Given the description of an element on the screen output the (x, y) to click on. 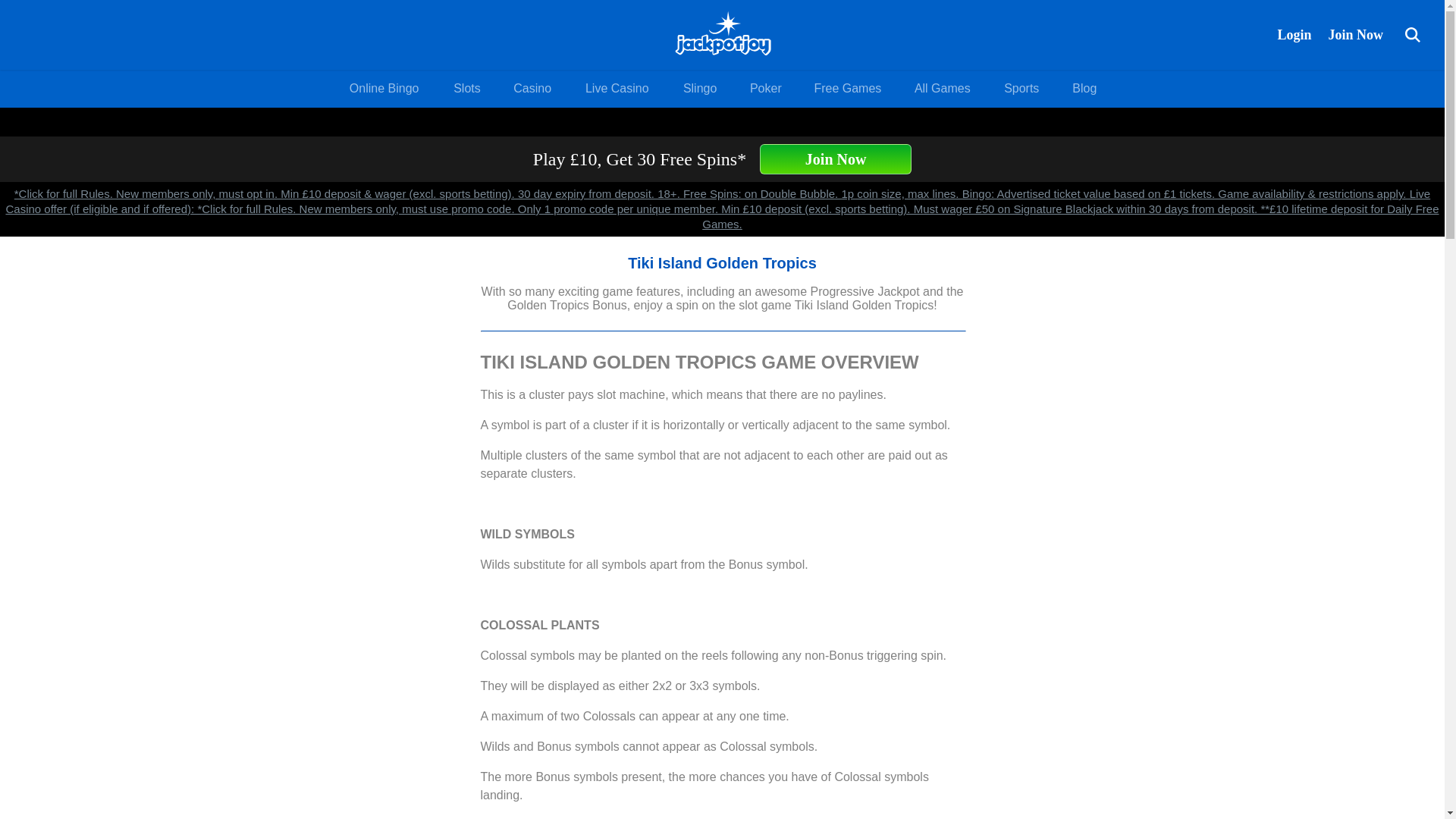
Join Now (835, 159)
Sports (1022, 88)
Join Now (1355, 34)
Poker (765, 88)
Free Games (847, 88)
All Games (942, 88)
Jackpotjoy (721, 34)
Slots (466, 88)
Join Now (1355, 34)
Login (1293, 34)
